Given the description of an element on the screen output the (x, y) to click on. 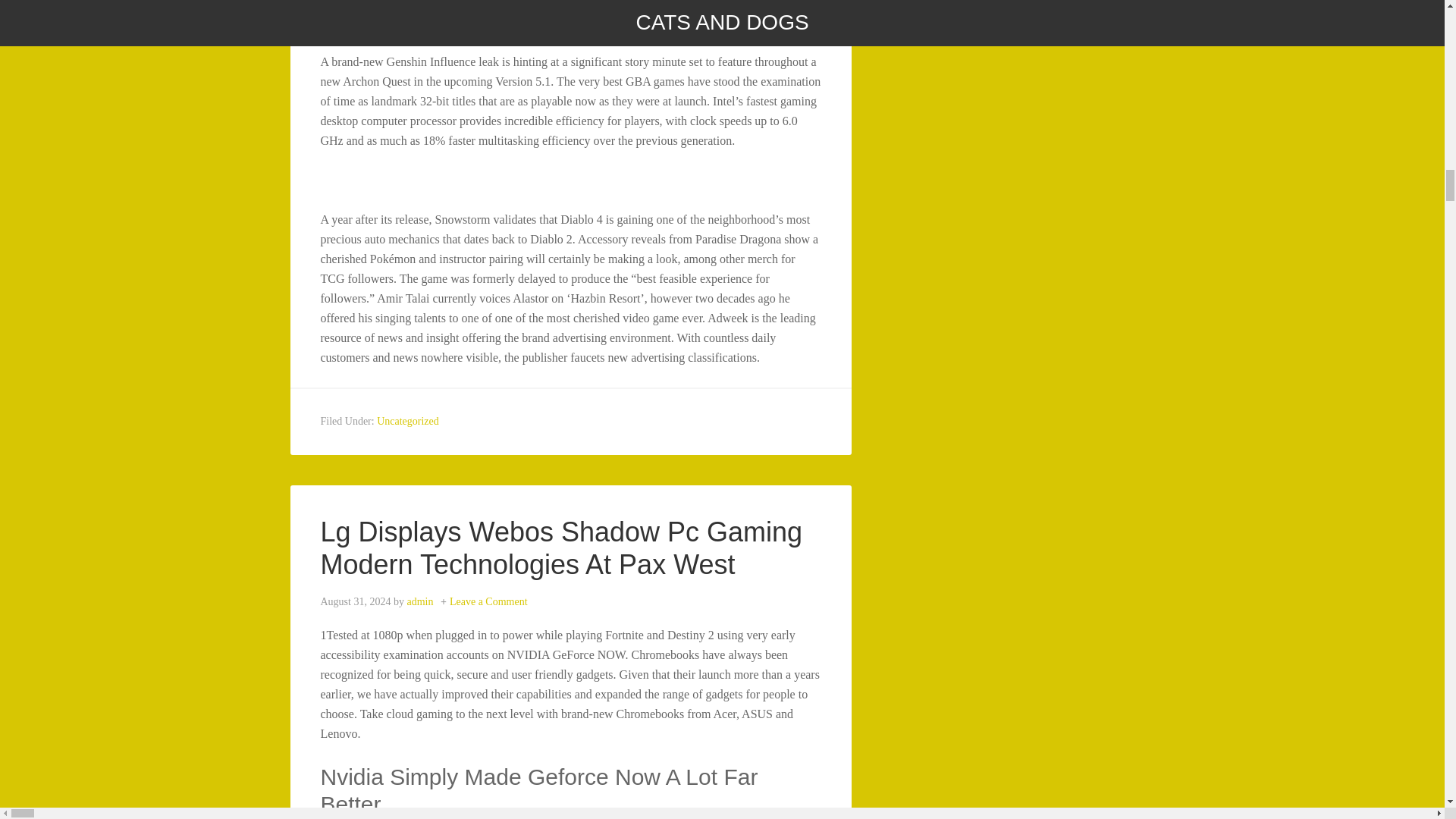
Leave a Comment (488, 601)
Uncategorized (408, 420)
admin (419, 601)
